Given the description of an element on the screen output the (x, y) to click on. 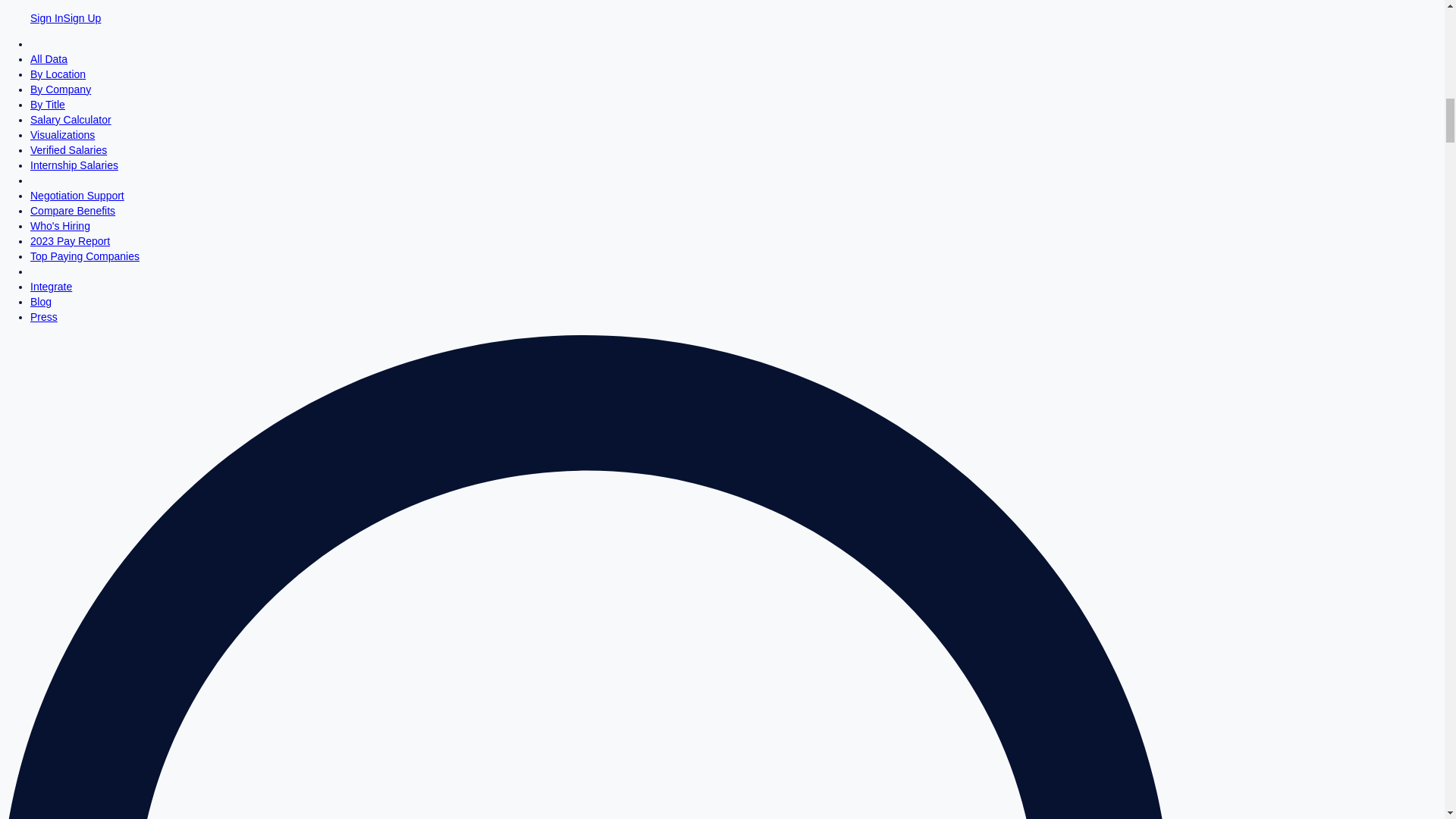
Internship Salaries (73, 164)
Compare Benefits (72, 210)
By Company (60, 89)
2023 Pay Report (70, 241)
All Data (48, 59)
Who's Hiring (60, 225)
By Location (57, 73)
Press (44, 316)
Visualizations (62, 134)
Sign Up (82, 18)
